Given the description of an element on the screen output the (x, y) to click on. 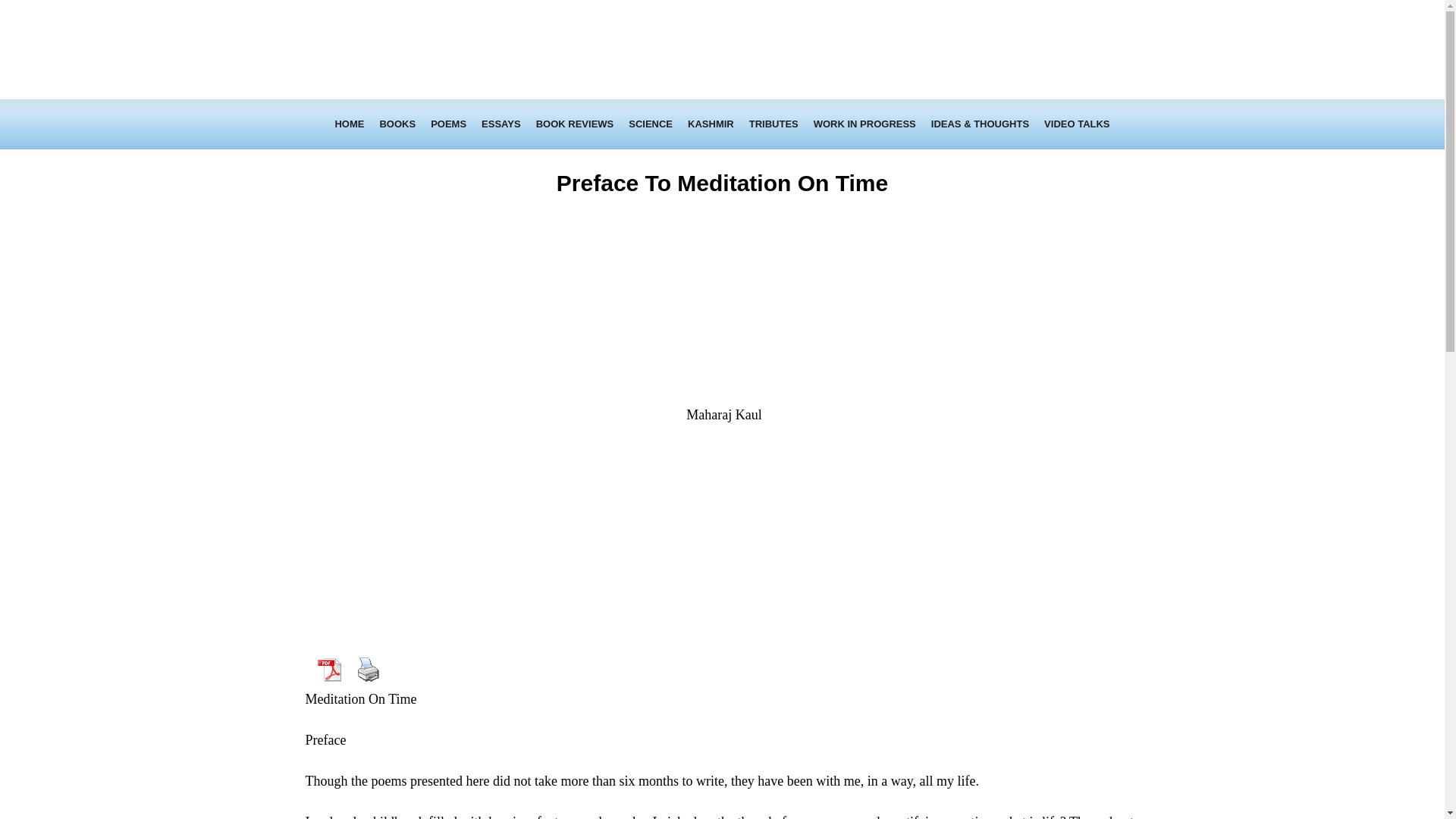
KASHMIR (710, 124)
VIDEO TALKS (1076, 124)
SCIENCE (650, 124)
TRIBUTES (773, 124)
POEMS (448, 124)
Print Content (368, 669)
View PDF (328, 669)
HOME (348, 124)
BOOKS (397, 124)
WORK IN PROGRESS (864, 124)
